Given the description of an element on the screen output the (x, y) to click on. 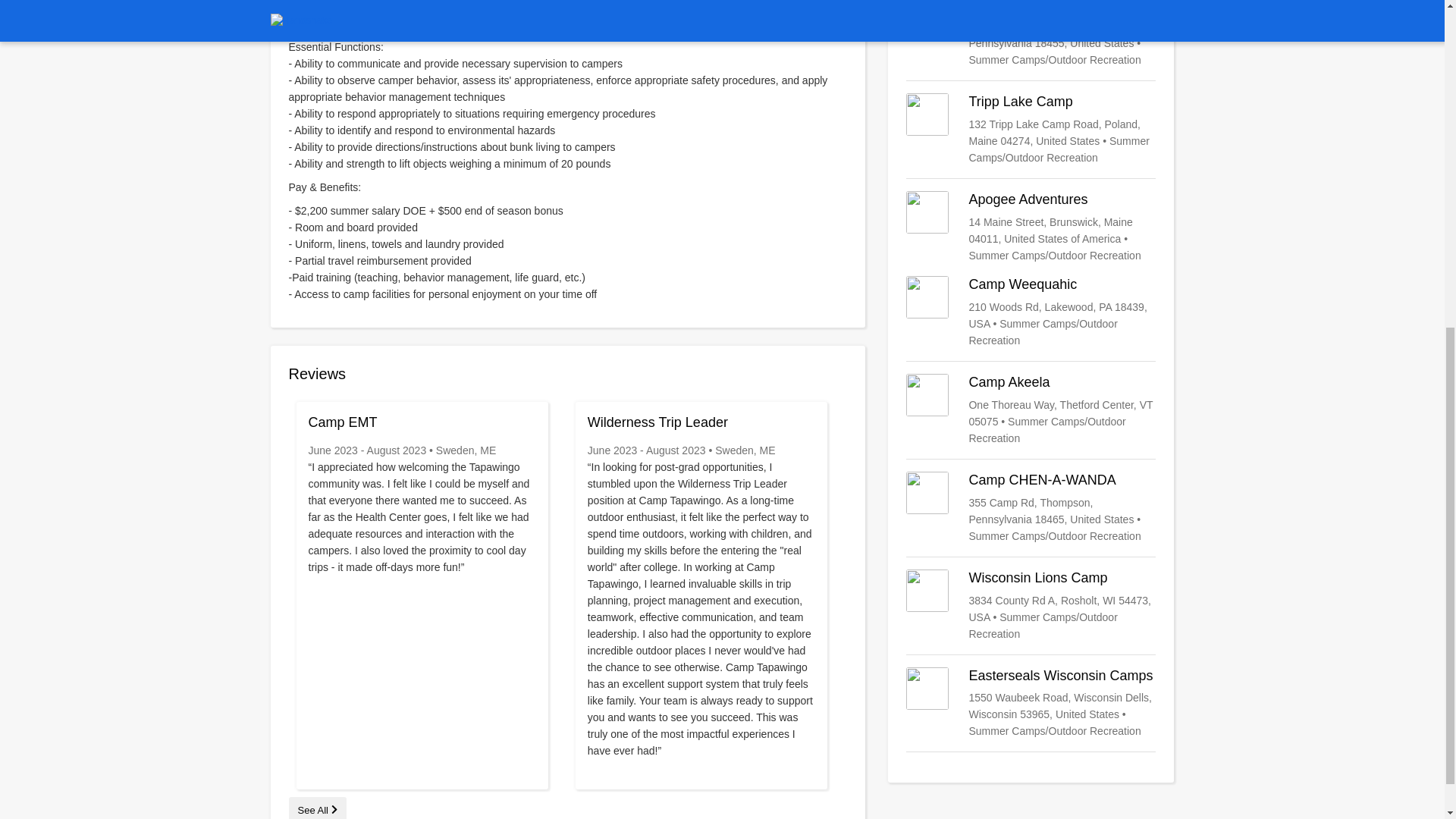
Tripp Lake Camp (1030, 129)
Camp Wayne Camps (1030, 33)
Camp Weequahic (1030, 312)
Wisconsin Lions Camp (1030, 605)
Apogee Adventures (1030, 226)
Easterseals Wisconsin Camps (1030, 703)
See All (317, 809)
Camp Akeela (1030, 409)
Camp CHEN-A-WANDA (1030, 507)
